Given the description of an element on the screen output the (x, y) to click on. 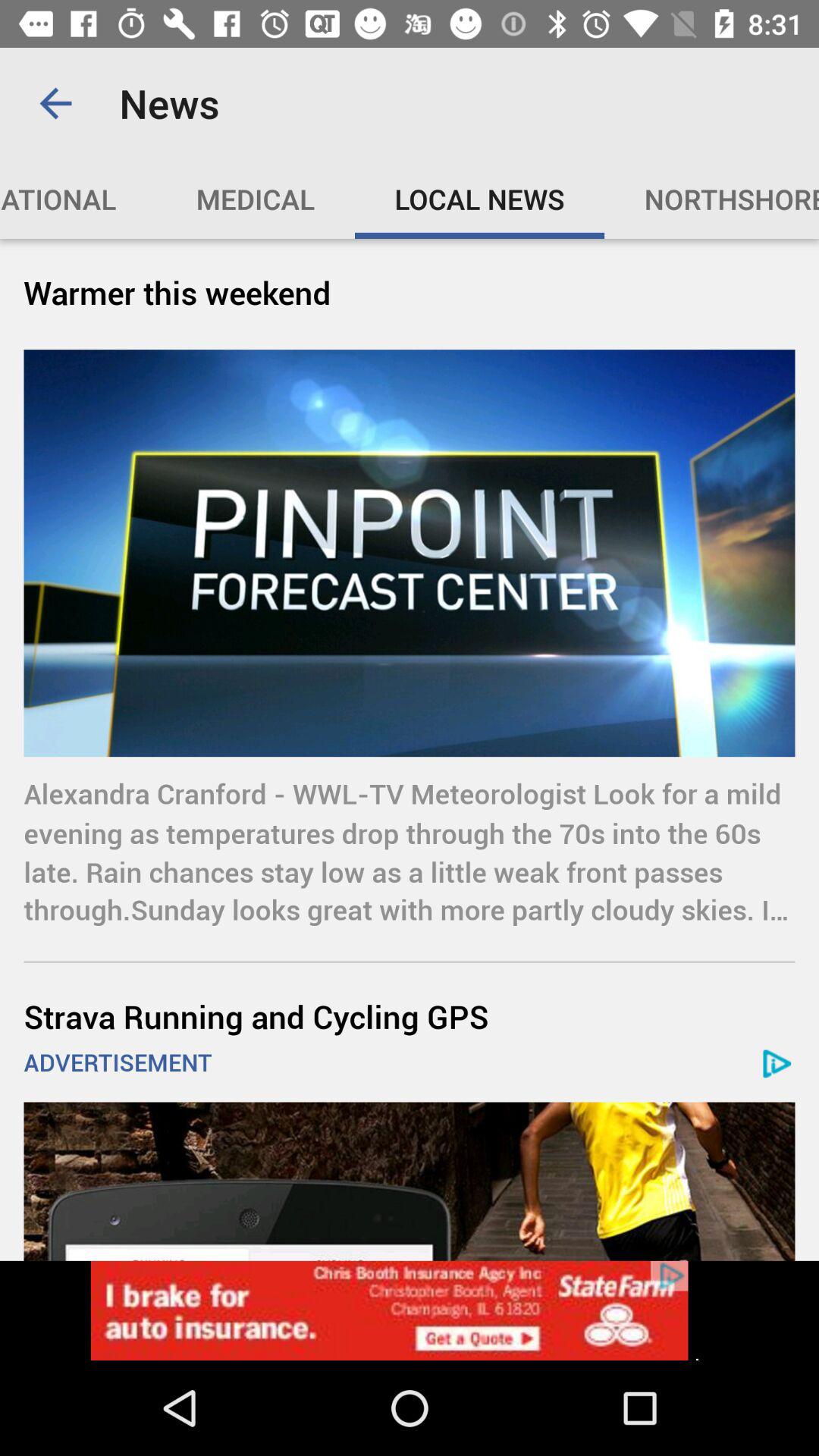
turn on the app to the left of the news icon (55, 103)
